Given the description of an element on the screen output the (x, y) to click on. 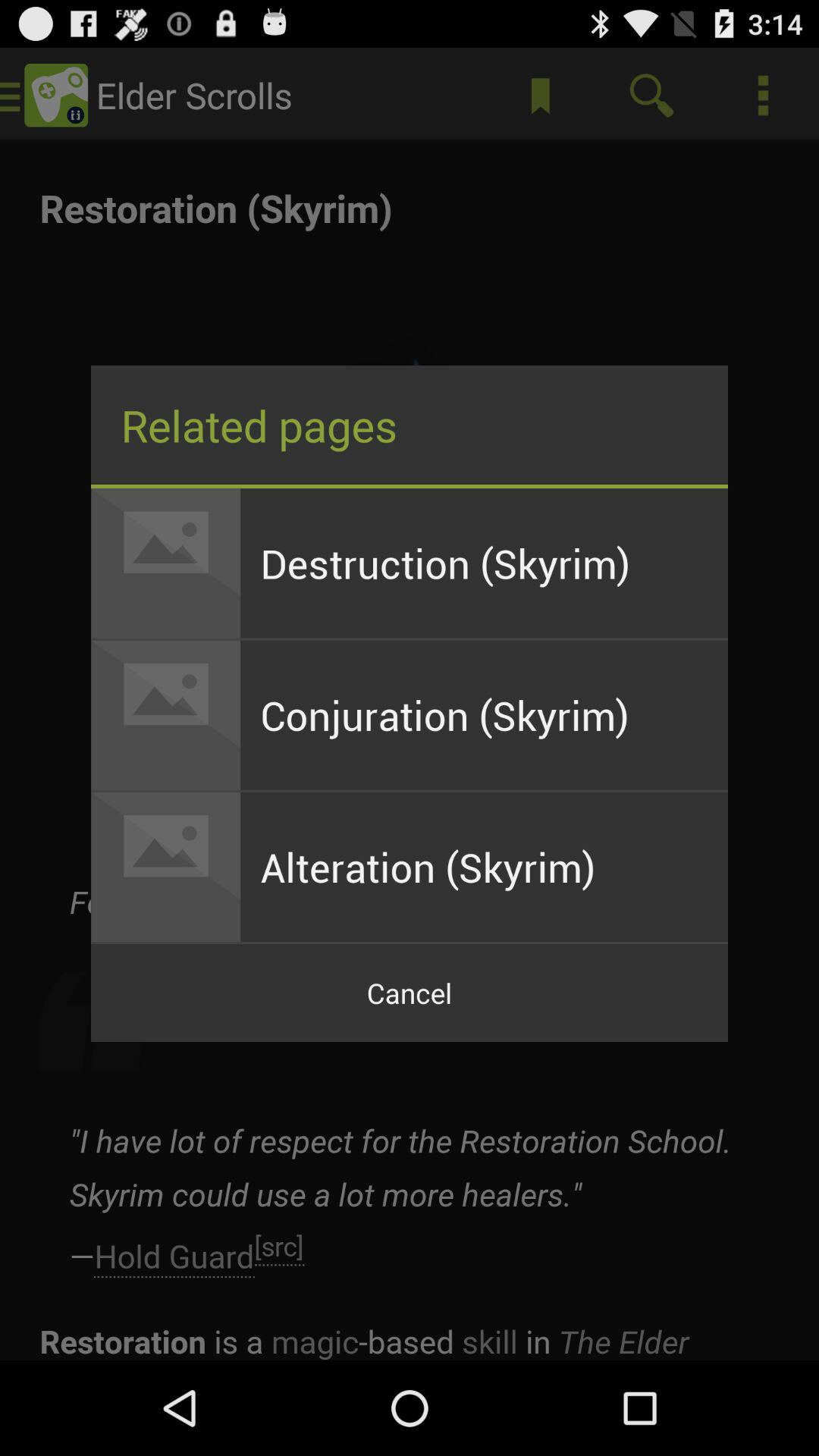
scroll to the cancel button (409, 992)
